Given the description of an element on the screen output the (x, y) to click on. 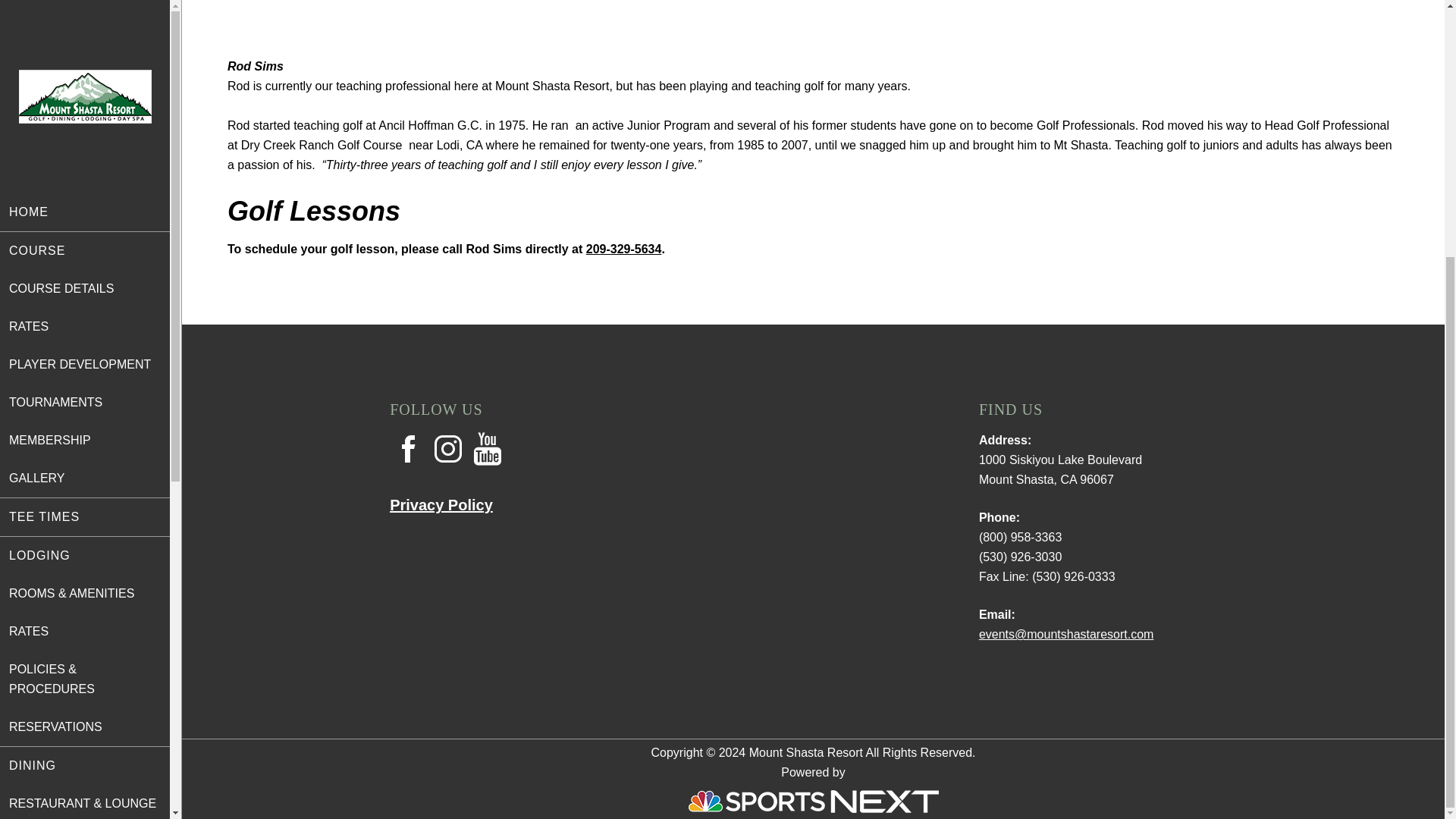
GALLERY (85, 113)
Privacy Policy (441, 504)
CORPORATE RETREATS (85, 743)
TOURNAMENTS (85, 37)
LODGING (85, 190)
PICKLEBALL (85, 781)
CURRENT REVIEWS (85, 514)
209-329-5634 (624, 248)
TEE TIMES (85, 152)
PLAYER DEVELOPMENT (85, 9)
